Given the description of an element on the screen output the (x, y) to click on. 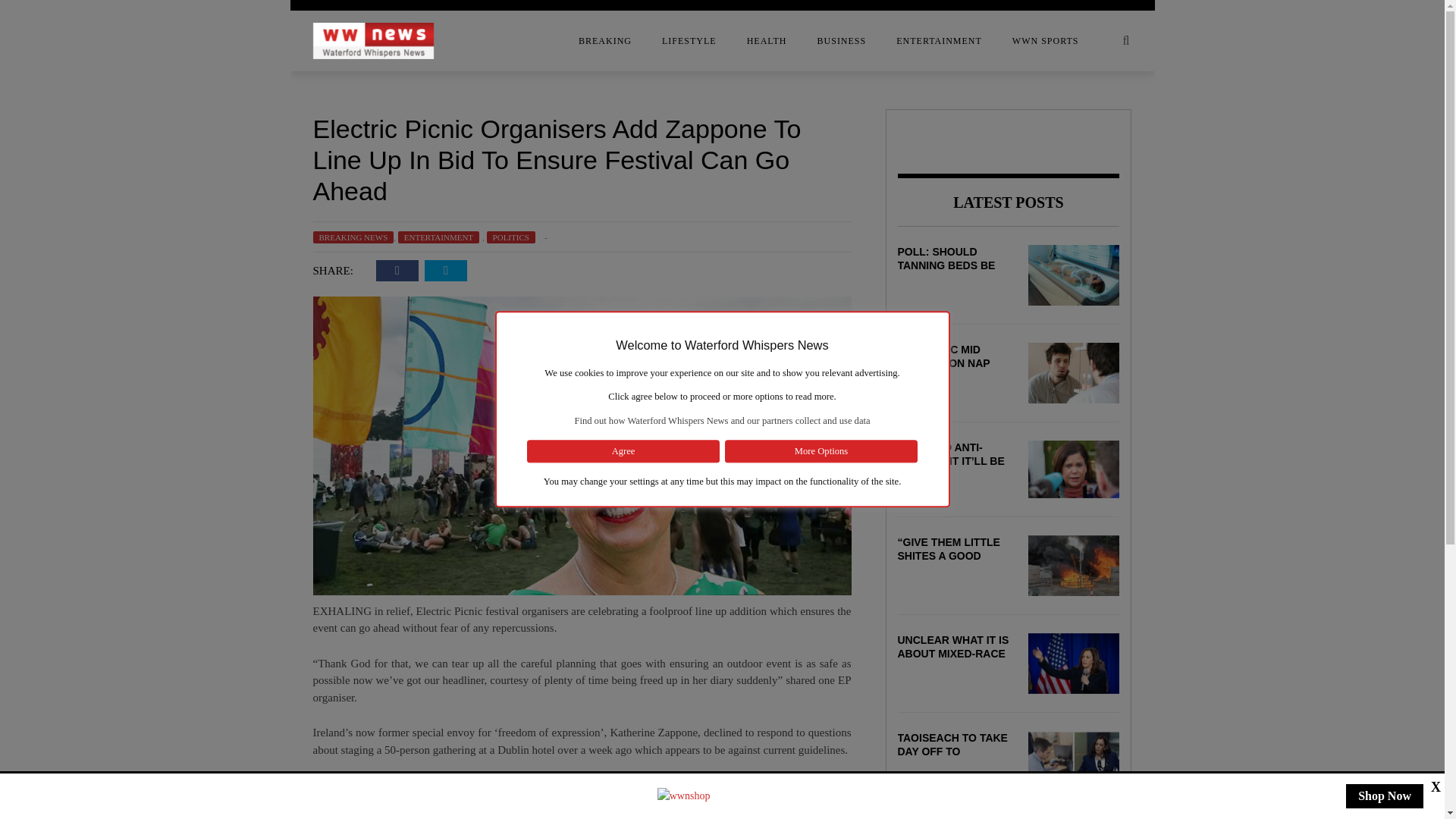
BREAKING (604, 40)
Support us on waterfordwhispers.shop (684, 794)
COMPETITION RULES (191, 86)
Facebook (396, 270)
Twitter (446, 270)
YOUR PRIVACY SETTINGS (191, 268)
HOMEPAGE (191, 177)
PRIVACY (191, 237)
CONTACT US (191, 116)
DISCLAIMER (191, 146)
NEWSLETTER SIGN UP FORM (191, 207)
